Given the description of an element on the screen output the (x, y) to click on. 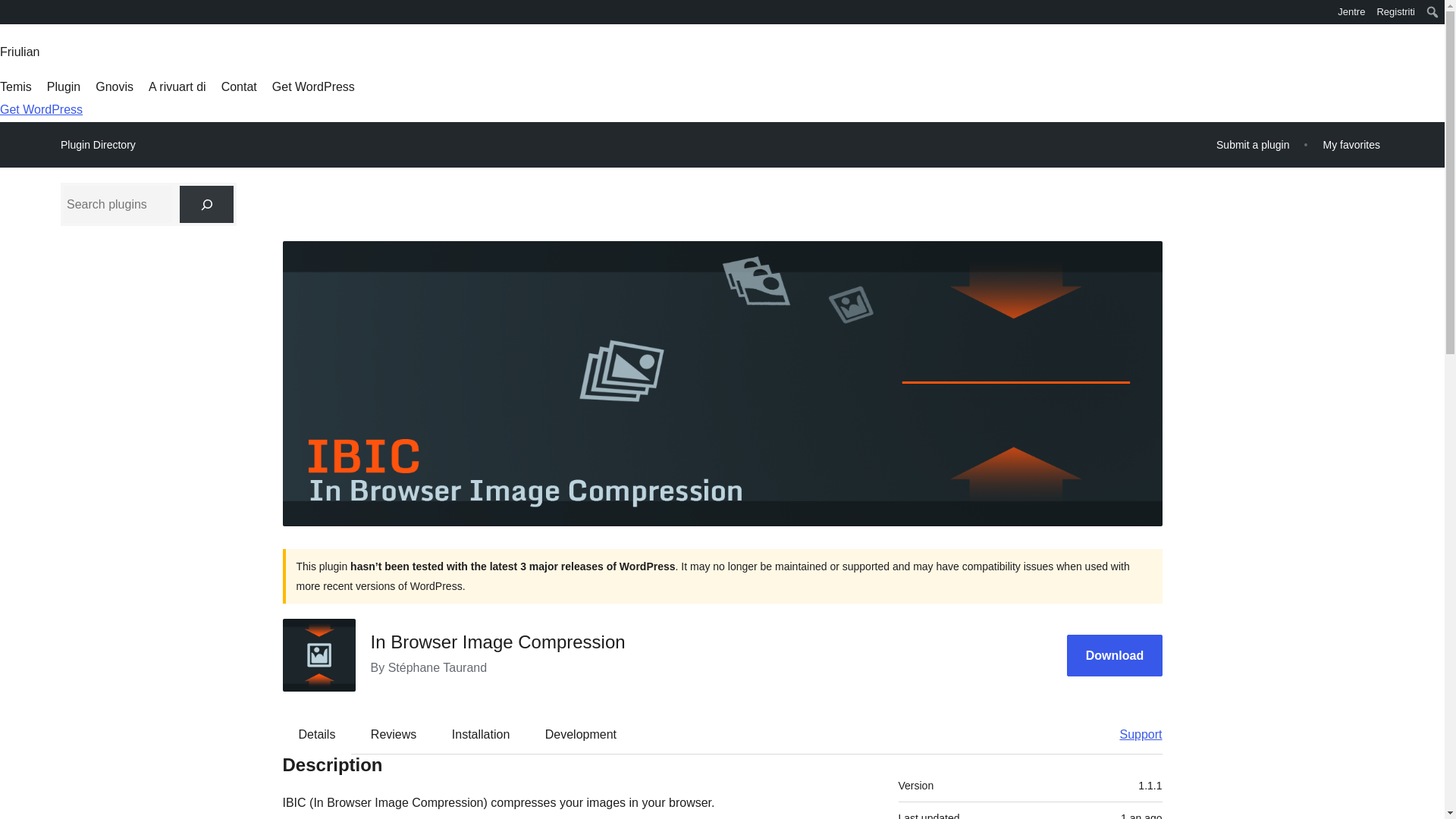
Get WordPress (41, 109)
Contat (239, 87)
Development (580, 733)
Temis (16, 87)
Jentre (1351, 12)
Installation (480, 733)
WordPress.org (10, 16)
WordPress.org (10, 10)
Gnovis (114, 87)
A rivuart di (177, 87)
Details (316, 733)
Download (1114, 655)
My favorites (1351, 144)
Plugin Directory (97, 144)
Support (1132, 733)
